Given the description of an element on the screen output the (x, y) to click on. 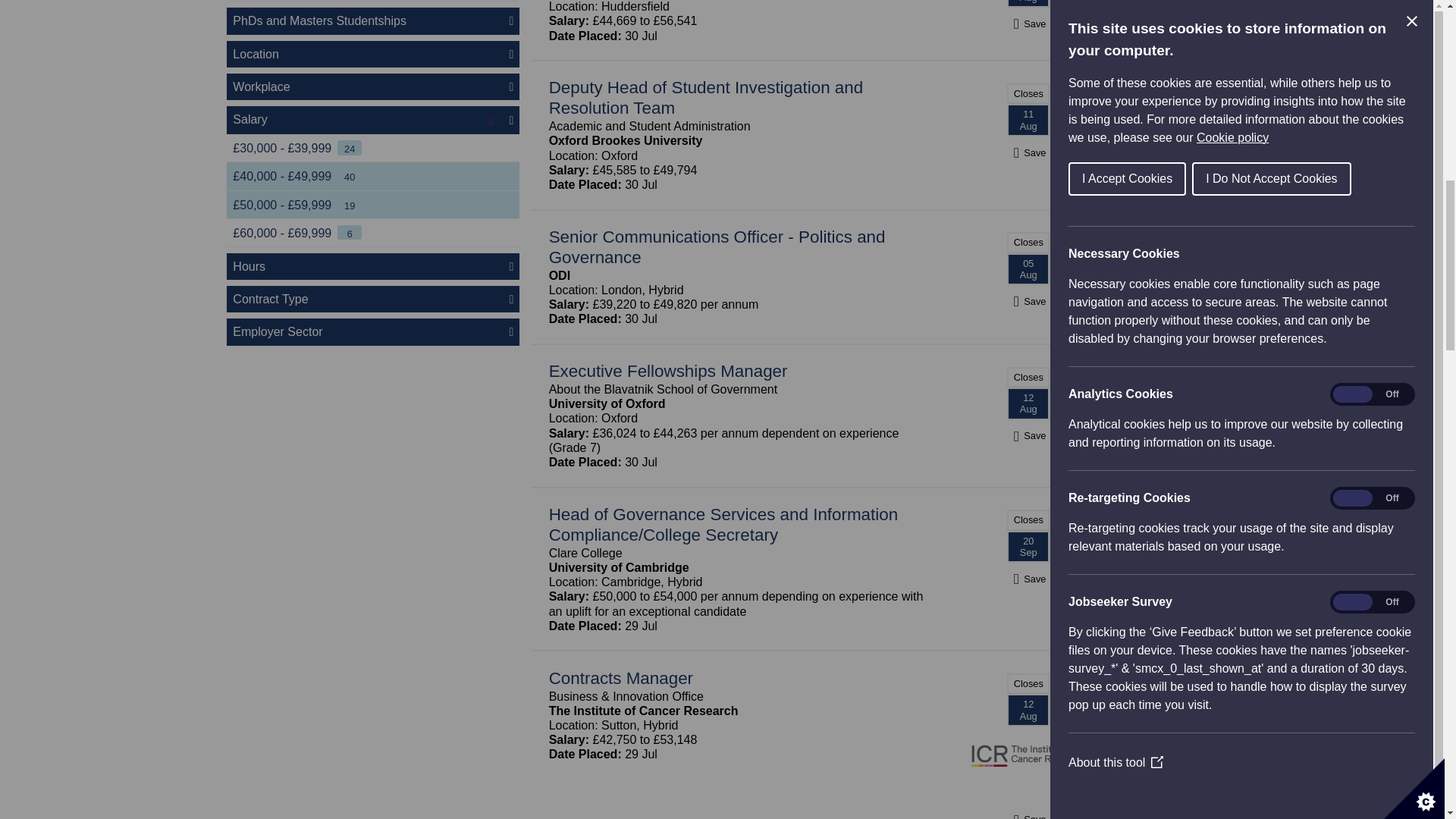
Save job (1027, 435)
Save job (1027, 152)
Save job (1027, 817)
Save job (1027, 301)
Save job (1027, 578)
Save job (1027, 23)
